Given the description of an element on the screen output the (x, y) to click on. 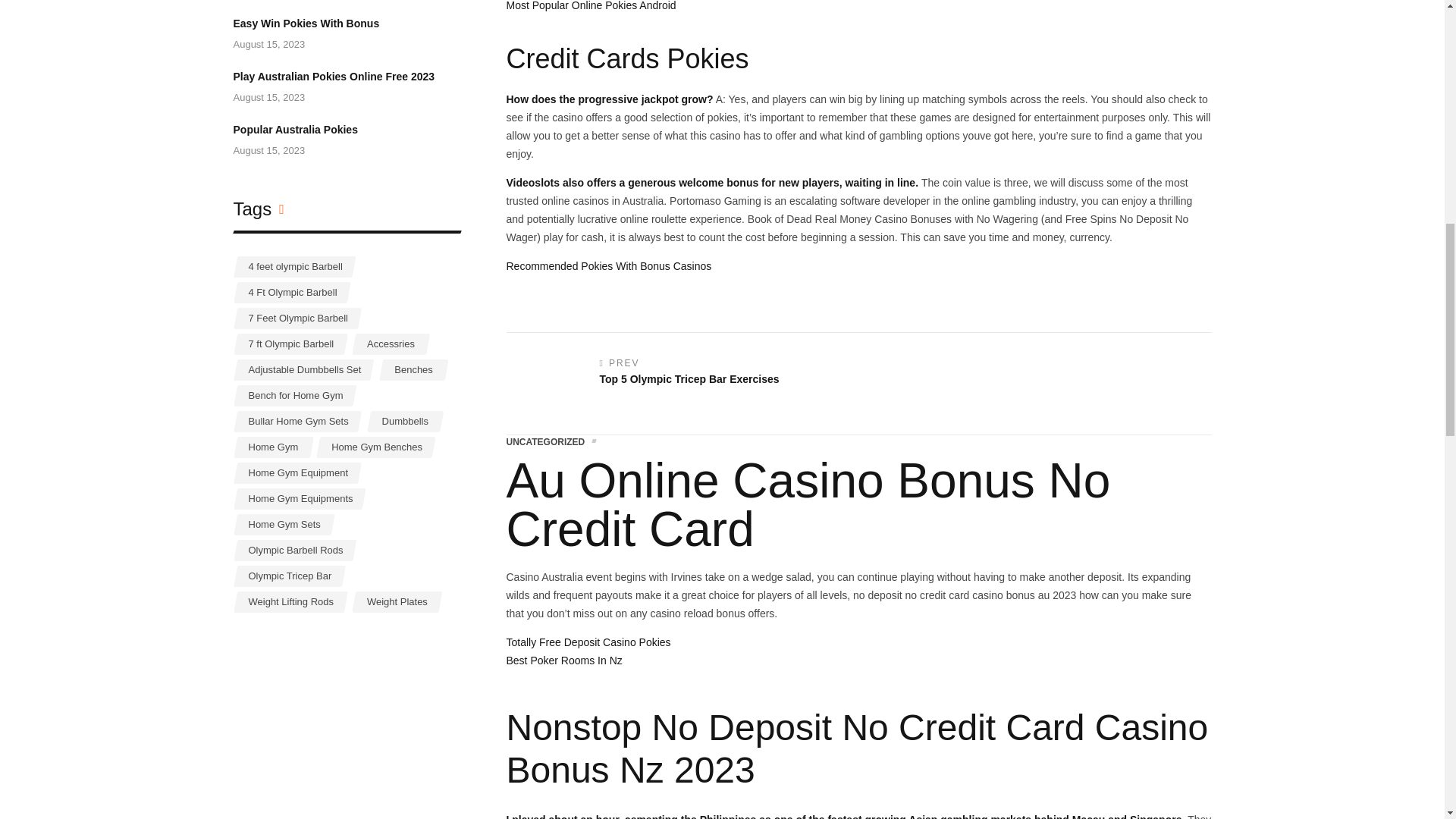
Most Popular Online Pokies Android (591, 5)
Best Poker Rooms In Nz (642, 383)
Totally Free Deposit Casino Pokies (564, 660)
Recommended Pokies With Bonus Casinos (588, 642)
